Given the description of an element on the screen output the (x, y) to click on. 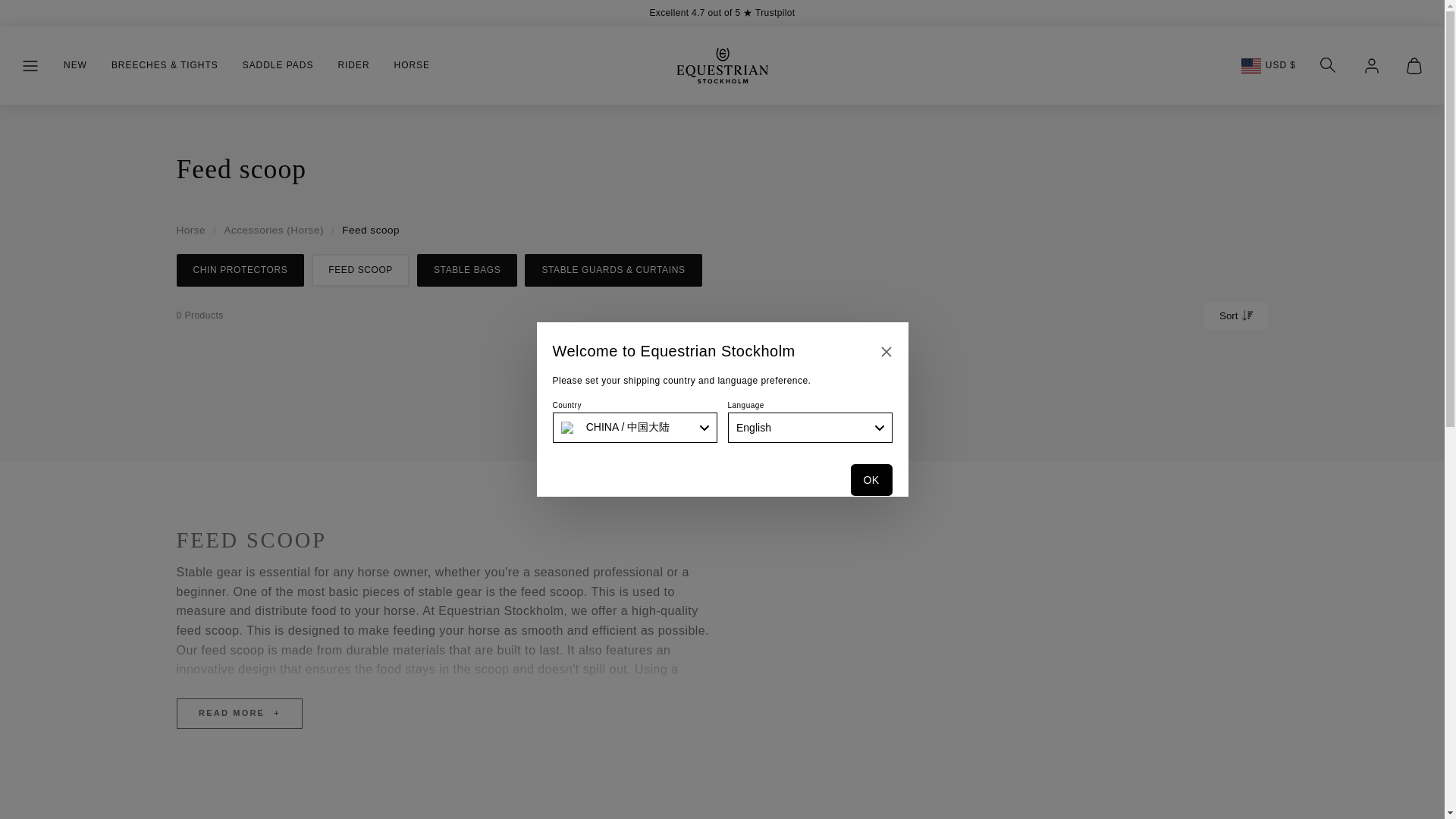
RIDER (353, 65)
SADDLE PADS (277, 65)
English (810, 427)
OK (871, 480)
HORSE (412, 65)
ACCOUNT (1372, 65)
MENU (29, 65)
NEW (75, 65)
